Given the description of an element on the screen output the (x, y) to click on. 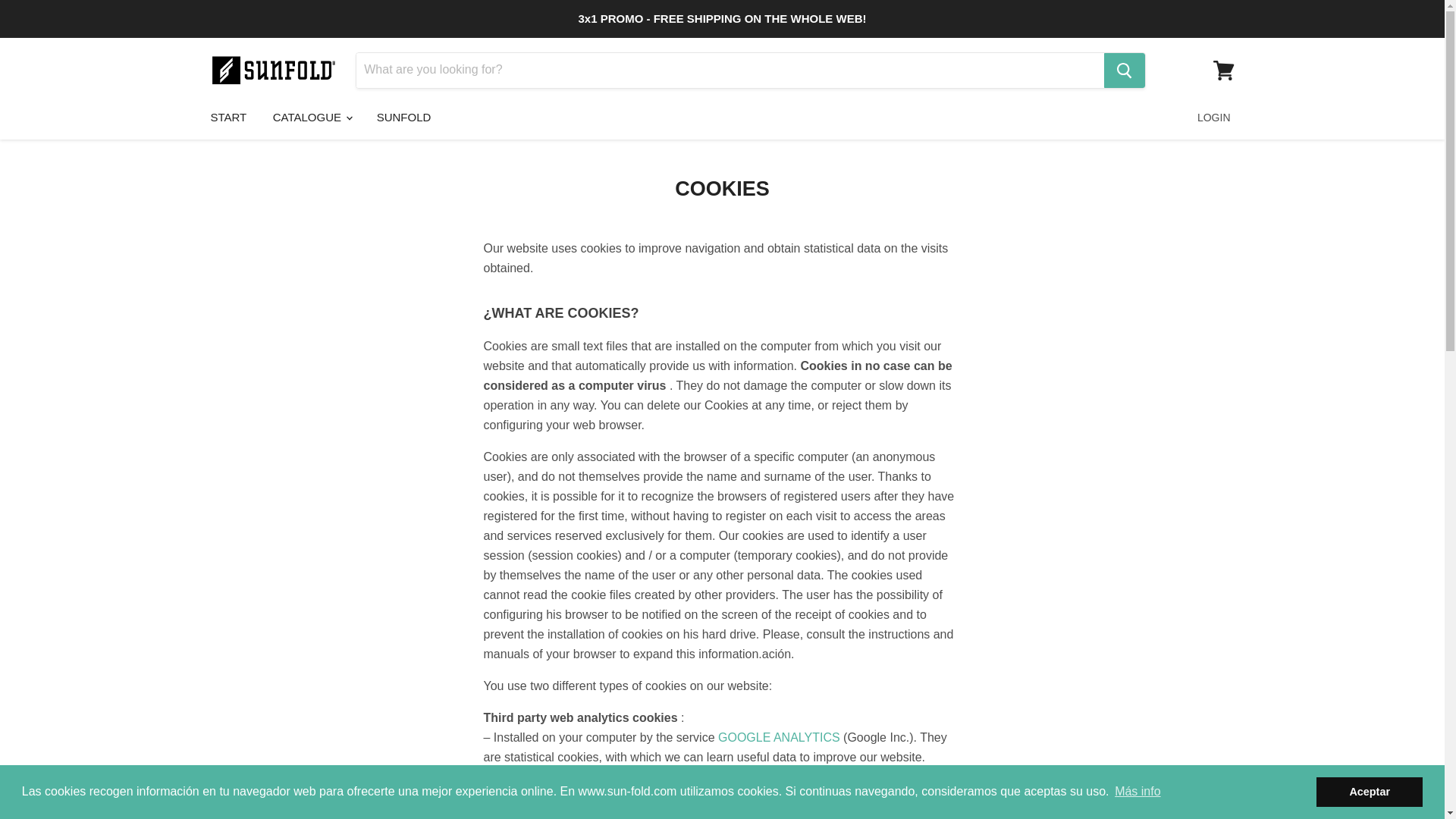
CATALOGUE (311, 117)
SUNFOLD (403, 117)
View cart (1223, 70)
Aceptar (1369, 791)
LOGIN (1214, 117)
GOOGLE ANALYTICS (778, 737)
We (550, 776)
START (227, 117)
